Given the description of an element on the screen output the (x, y) to click on. 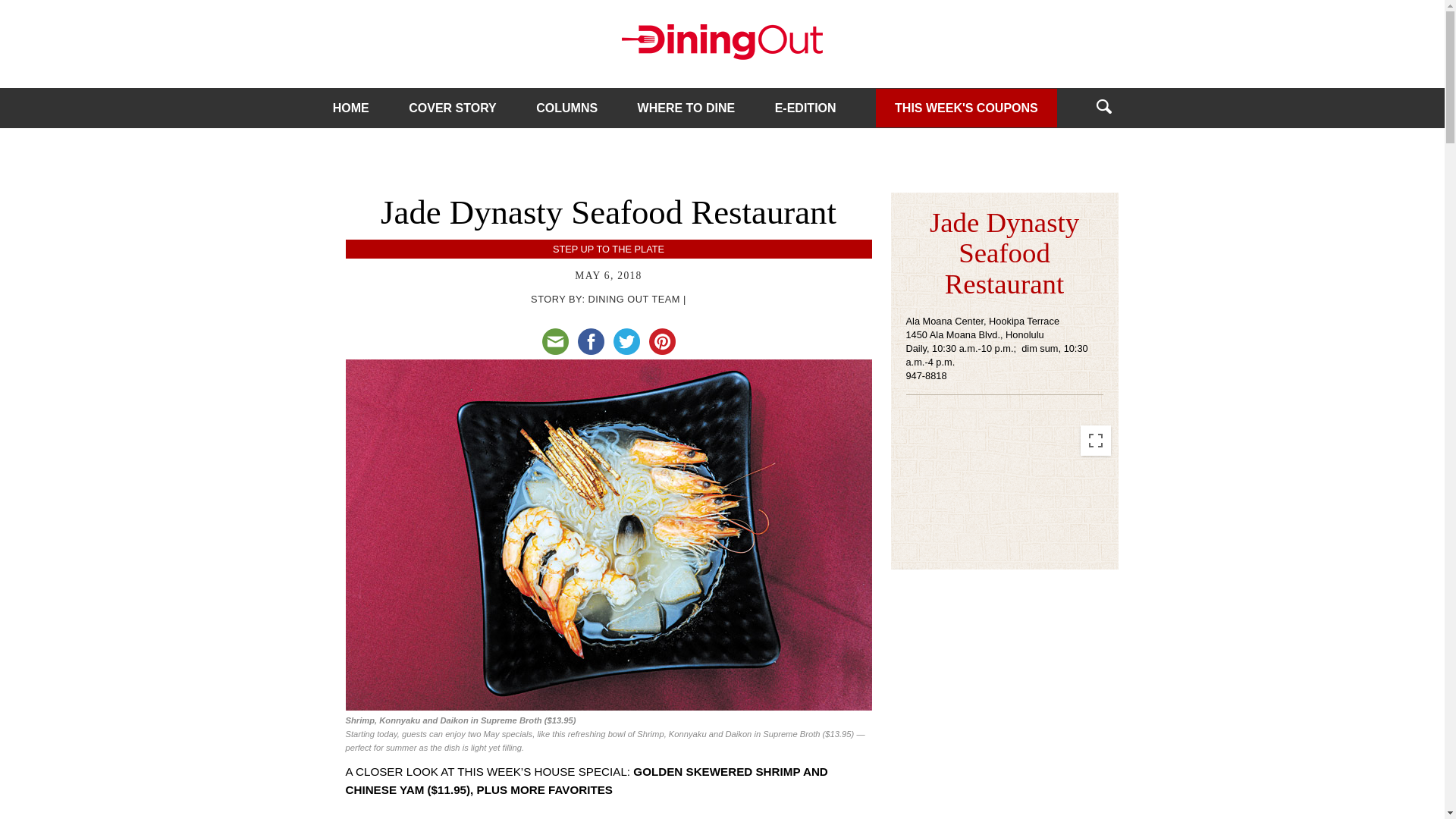
Step Up to the Plate (608, 248)
HOME (351, 107)
WHERE TO DINE (686, 107)
Toggle fullscreen view (1094, 440)
STEP UP TO THE PLATE (608, 248)
email (554, 341)
twitter (625, 341)
COVER STORY (452, 107)
THIS WEEK'S COUPONS (966, 106)
facebook (590, 341)
pinterest (662, 341)
